Given the description of an element on the screen output the (x, y) to click on. 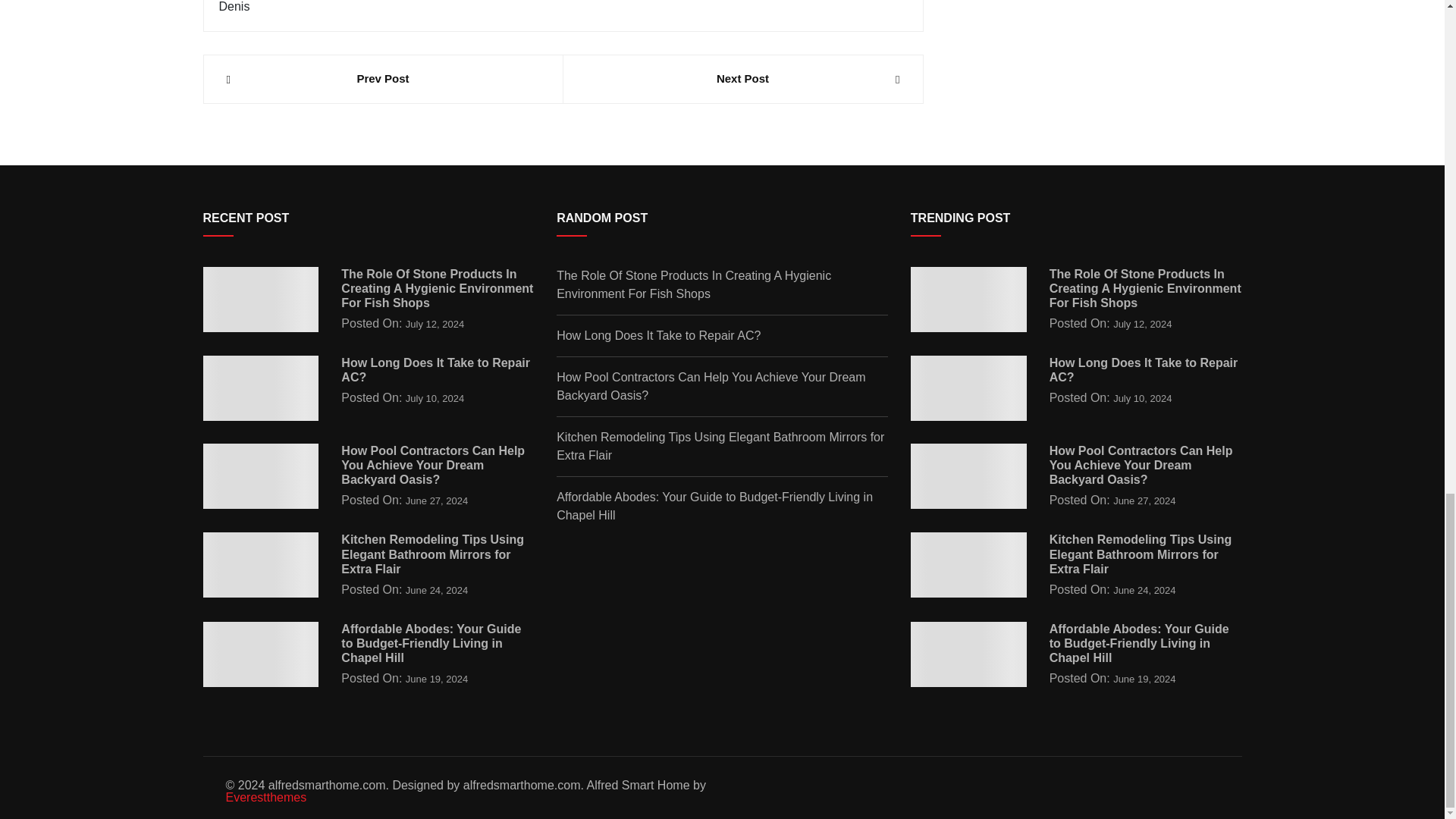
Next Post (742, 78)
Prev Post (381, 78)
